Given the description of an element on the screen output the (x, y) to click on. 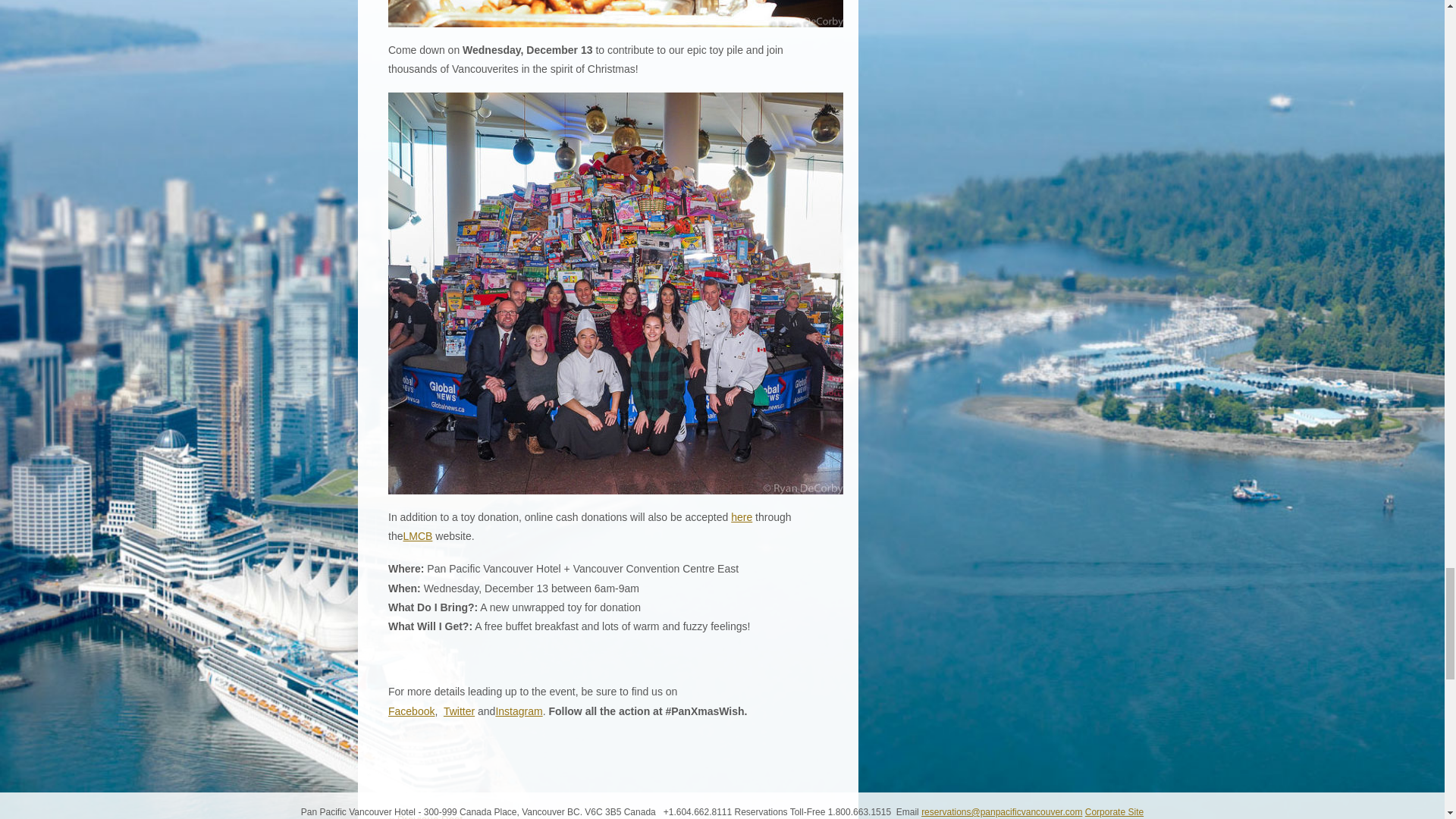
Facebook (410, 711)
Instagram (518, 711)
here (741, 517)
LMCB (417, 535)
Twitter (459, 711)
